Given the description of an element on the screen output the (x, y) to click on. 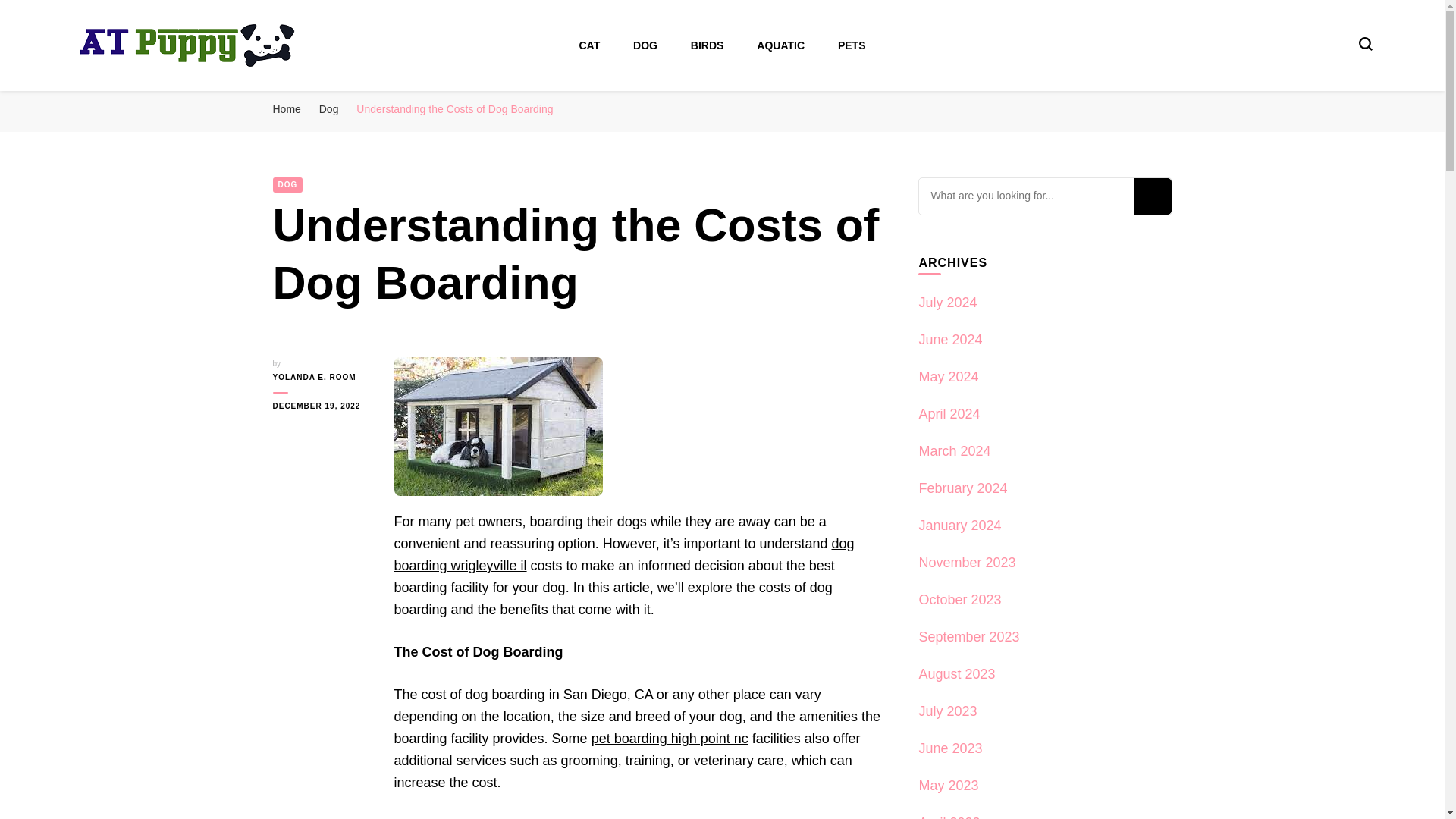
YOLANDA E. ROOM (322, 377)
DOG (645, 45)
Search (1151, 196)
July 2024 (947, 302)
PETS (852, 45)
Dog (328, 109)
Search (1151, 196)
BIRDS (706, 45)
Understanding the Costs of Dog Boarding (454, 109)
Home (287, 109)
pet boarding high point nc (669, 738)
DECEMBER 19, 2022 (322, 406)
May 2024 (948, 376)
DOG (287, 184)
AT Puppy (130, 94)
